Given the description of an element on the screen output the (x, y) to click on. 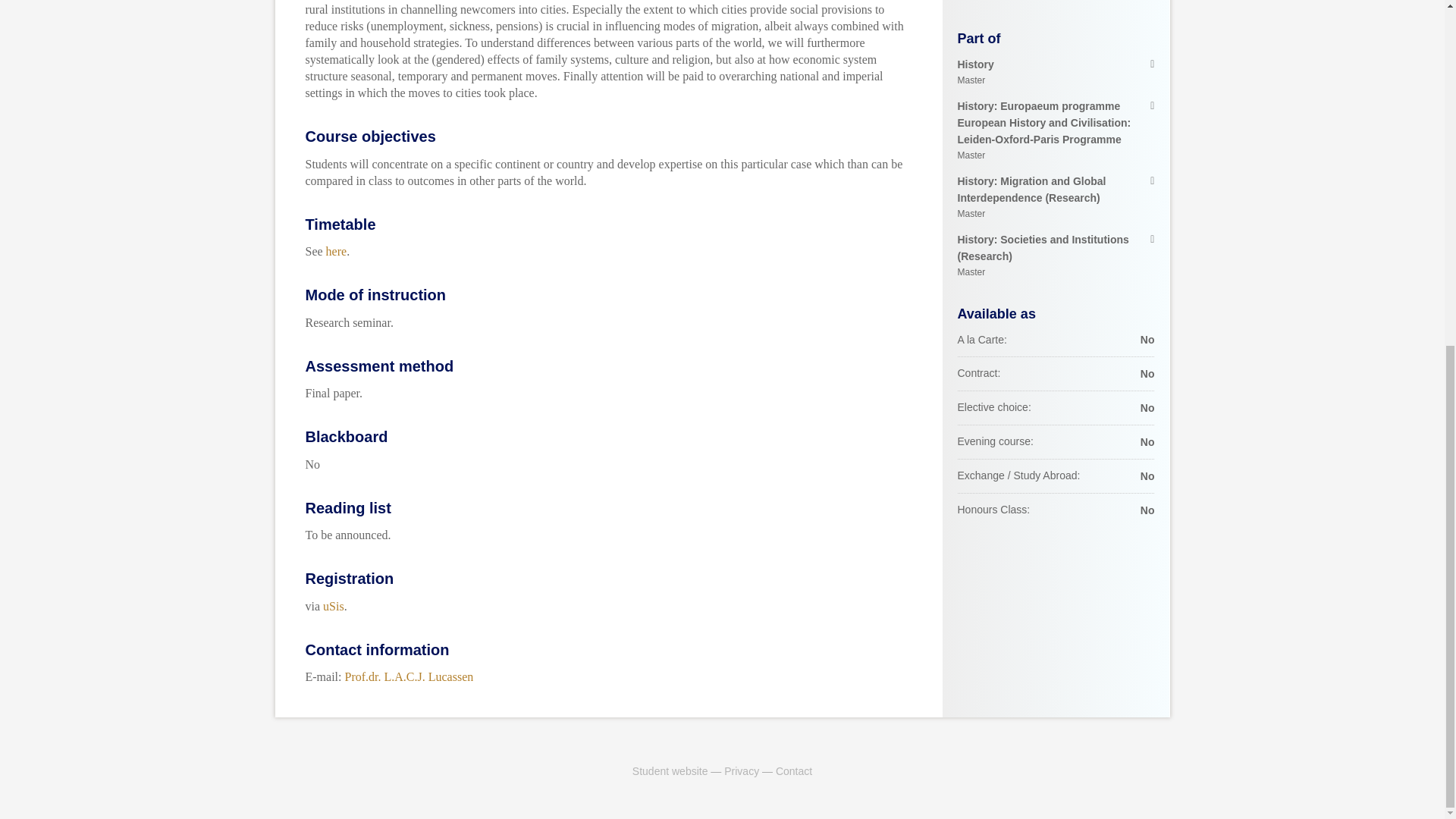
Contact (794, 770)
Student website (669, 770)
Privacy (740, 770)
here (336, 250)
uSis (1055, 72)
Prof.dr. L.A.C.J. Lucassen (333, 605)
